Given the description of an element on the screen output the (x, y) to click on. 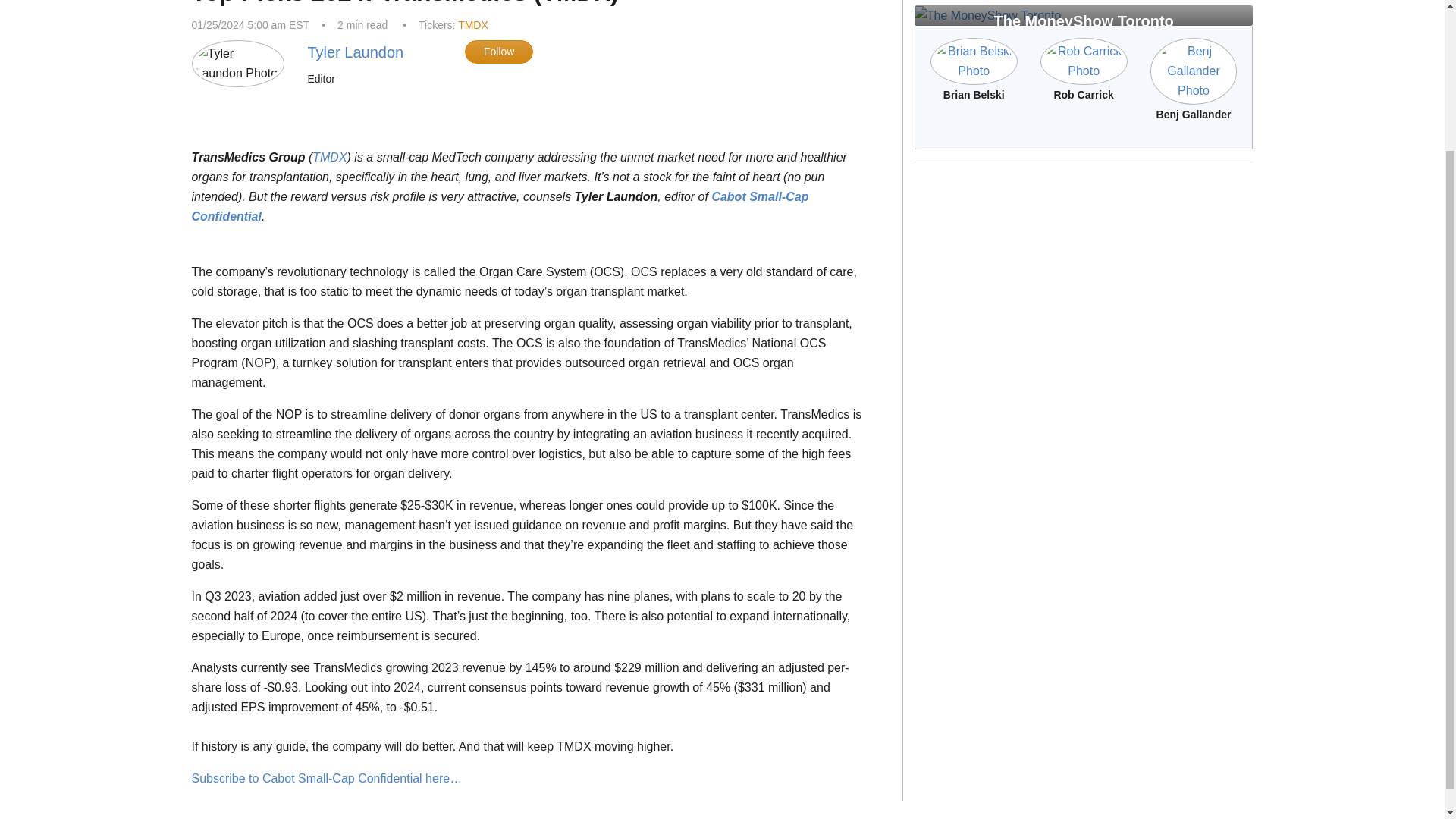
TMDX (472, 24)
Tyler Laundon (355, 51)
You must login to follow our experts. (498, 51)
